Given the description of an element on the screen output the (x, y) to click on. 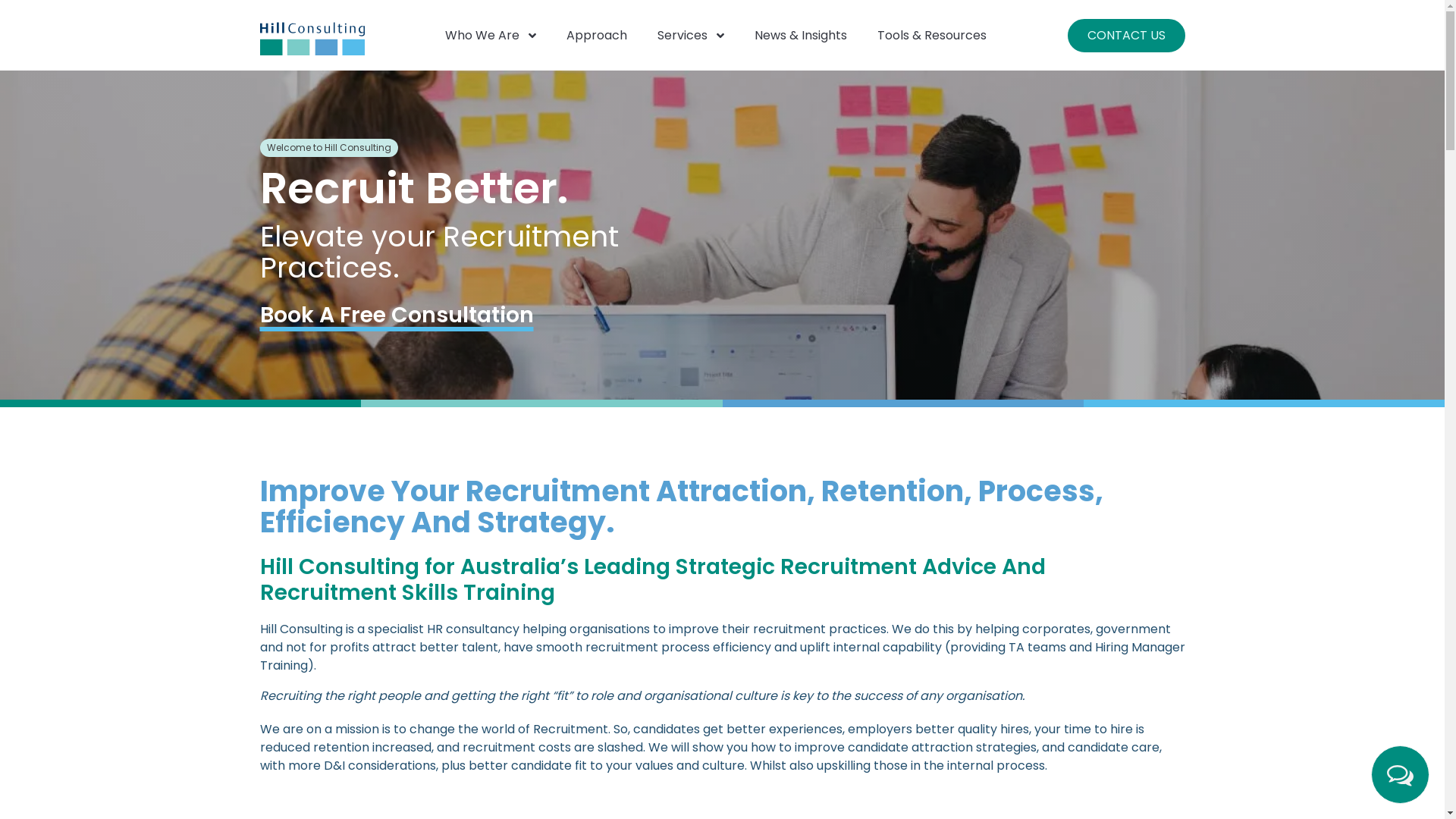
Tools & Resources Element type: text (931, 34)
Services Element type: text (690, 34)
Book A Free Consultation Element type: text (396, 314)
Approach Element type: text (596, 34)
News & Insights Element type: text (800, 34)
Who We Are Element type: text (490, 34)
CONTACT US Element type: text (1126, 34)
